Given the description of an element on the screen output the (x, y) to click on. 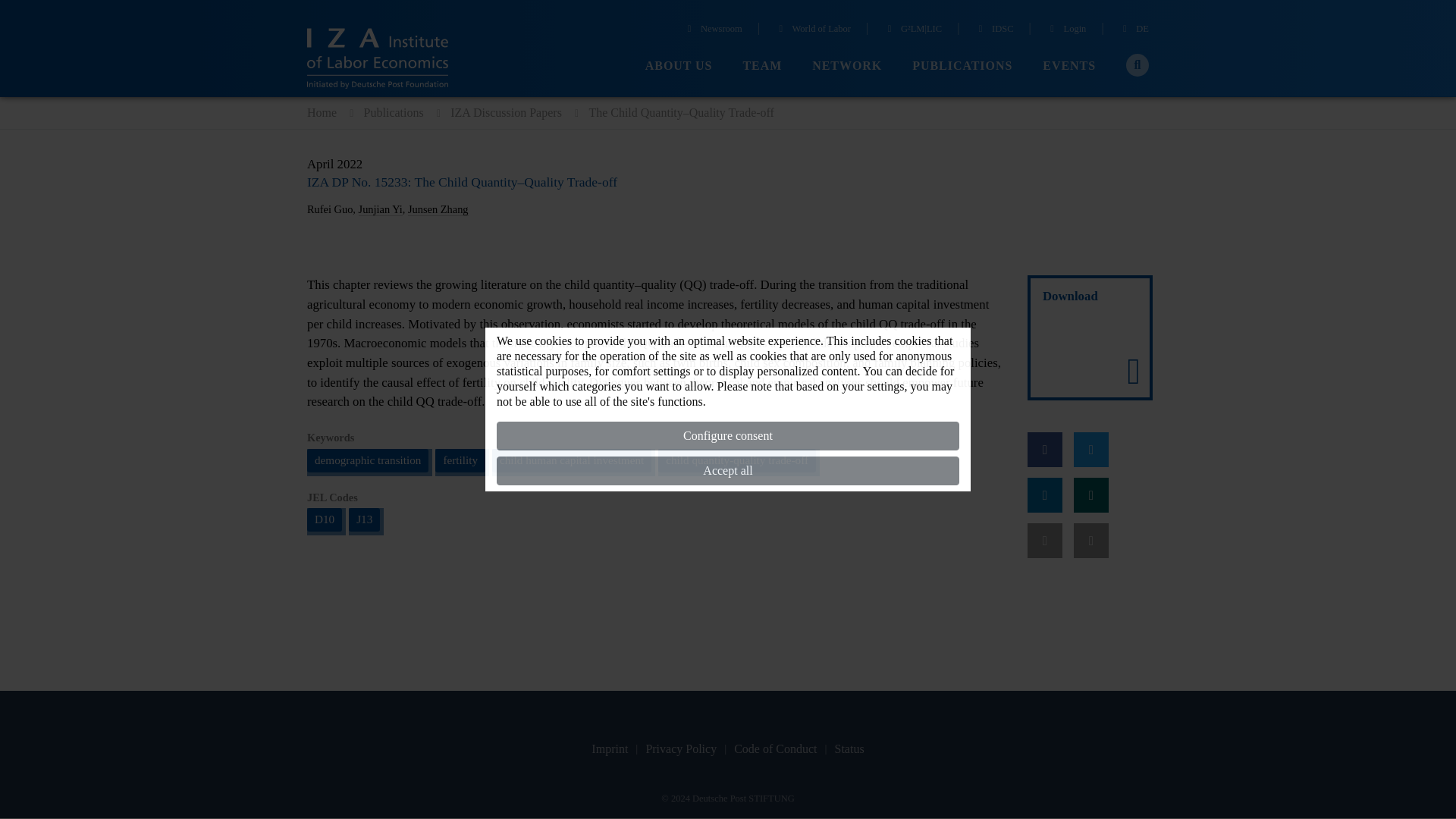
PUBLICATIONS (961, 66)
IDSC (993, 30)
ABOUT US (679, 66)
DE (1133, 30)
NETWORK (847, 66)
EVENTS (1069, 66)
Login (1066, 30)
Newsroom (712, 30)
World of Labor (812, 30)
TEAM (761, 66)
